Given the description of an element on the screen output the (x, y) to click on. 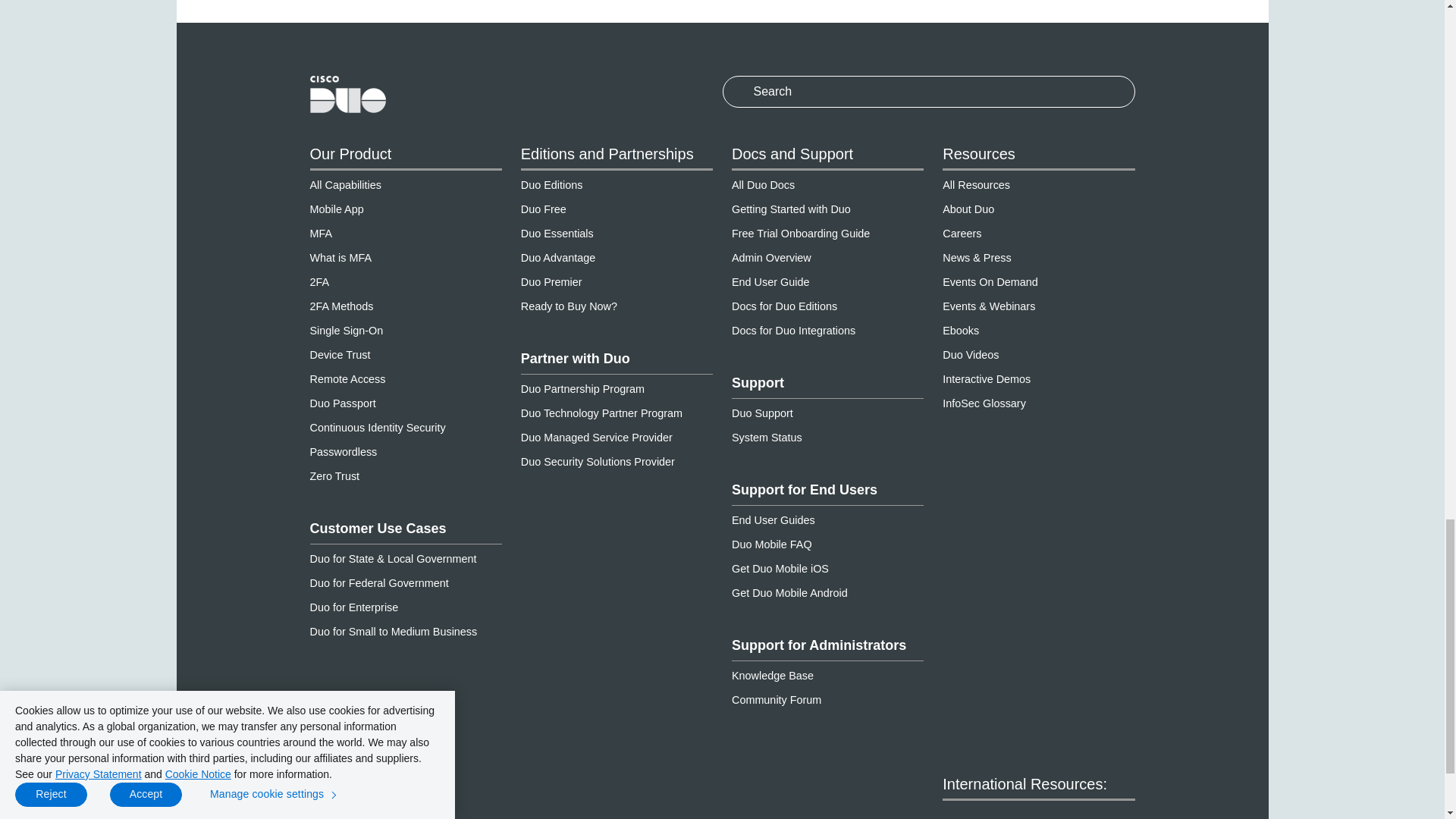
Duo Security on Facebook (319, 812)
Search (928, 91)
Duo Security on X (378, 812)
Duo Security on Instagram (434, 812)
Duo Security on LinkedIn (491, 812)
Search (733, 91)
